Given the description of an element on the screen output the (x, y) to click on. 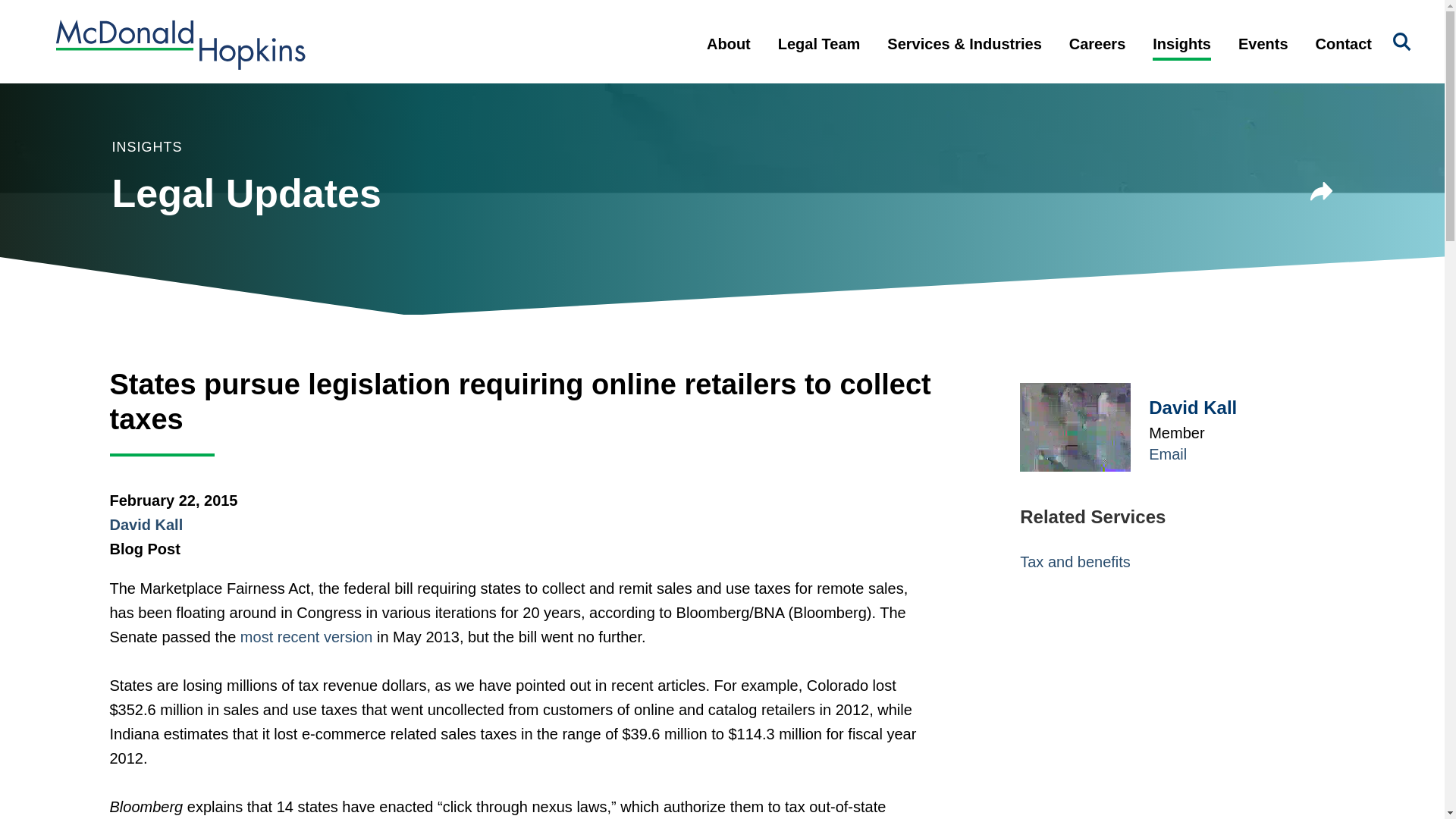
Share (1321, 190)
Share (1321, 194)
Careers (1097, 55)
Menu (673, 20)
Contact (1343, 55)
Insights (1181, 55)
Main Content (666, 20)
Share (1321, 194)
Main Menu (673, 20)
About (728, 55)
Events (1262, 55)
Search (1401, 41)
Legal Team (819, 55)
